Given the description of an element on the screen output the (x, y) to click on. 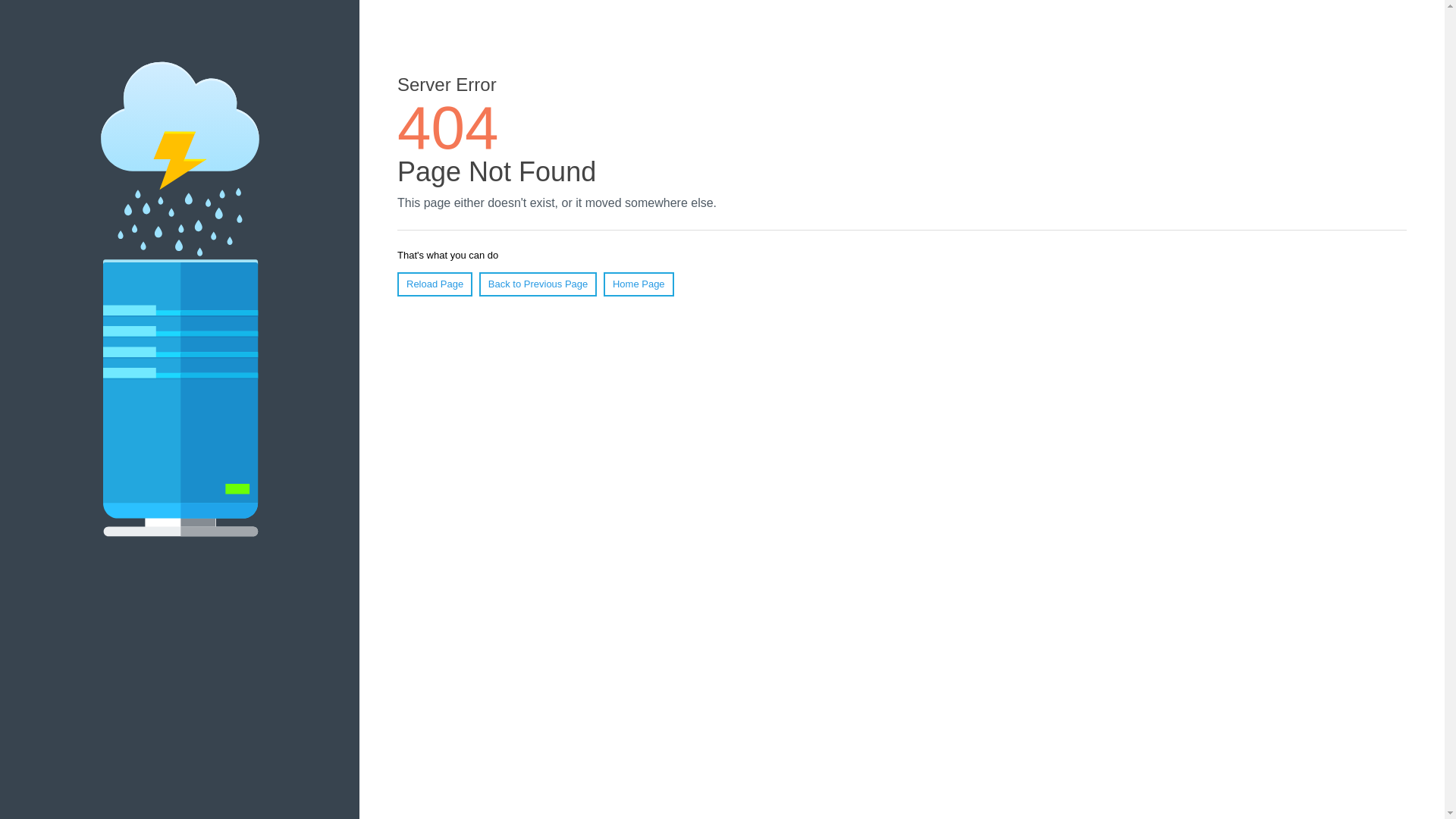
Home Page Element type: text (638, 284)
Back to Previous Page Element type: text (538, 284)
Reload Page Element type: text (434, 284)
